Given the description of an element on the screen output the (x, y) to click on. 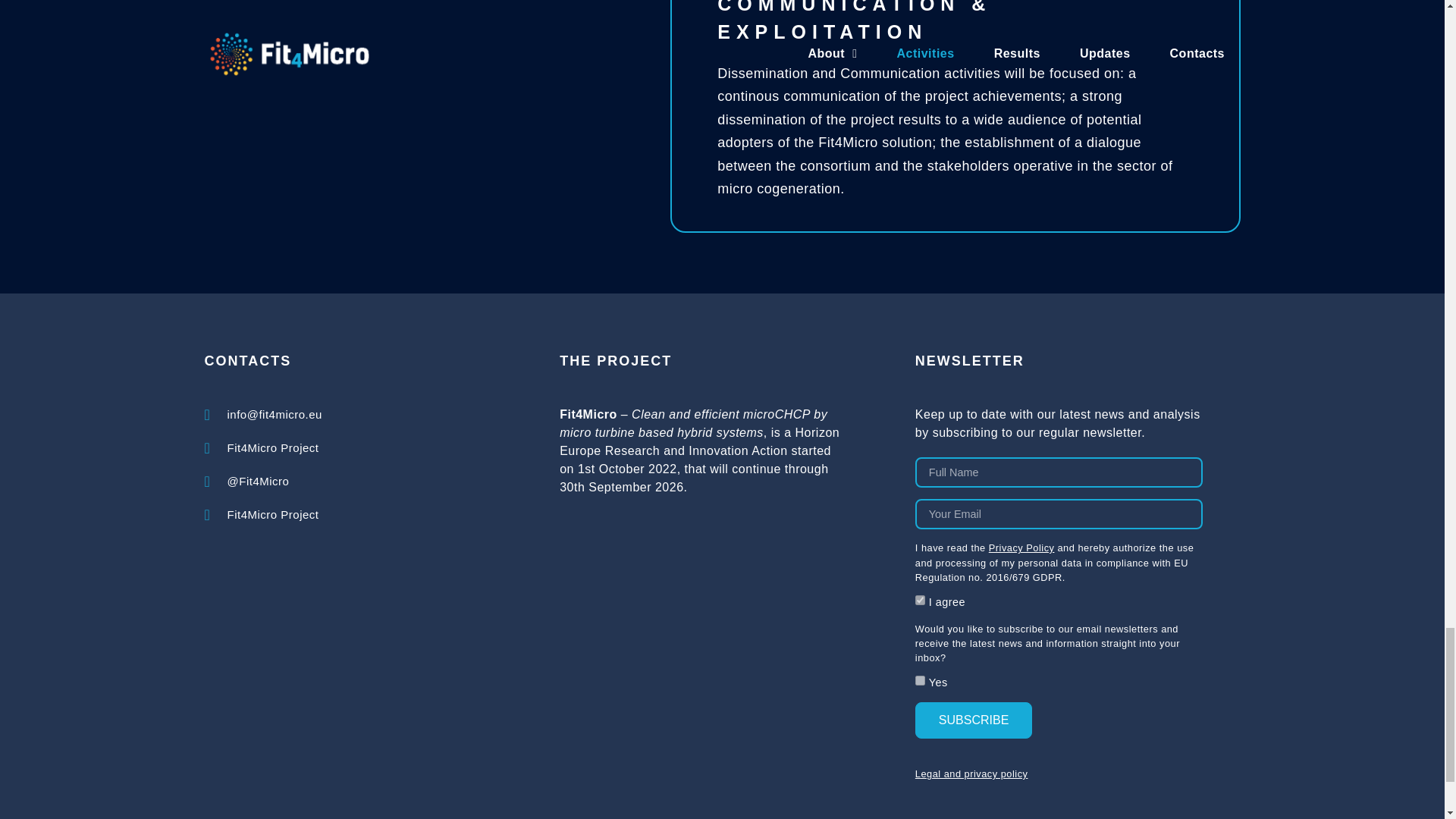
Fit4Micro Project (263, 515)
on (919, 600)
Privacy Policy (1021, 547)
SUBSCRIBE (973, 719)
Legal and privacy policy (971, 773)
Fit4Micro Project (263, 447)
Yes (919, 680)
